Given the description of an element on the screen output the (x, y) to click on. 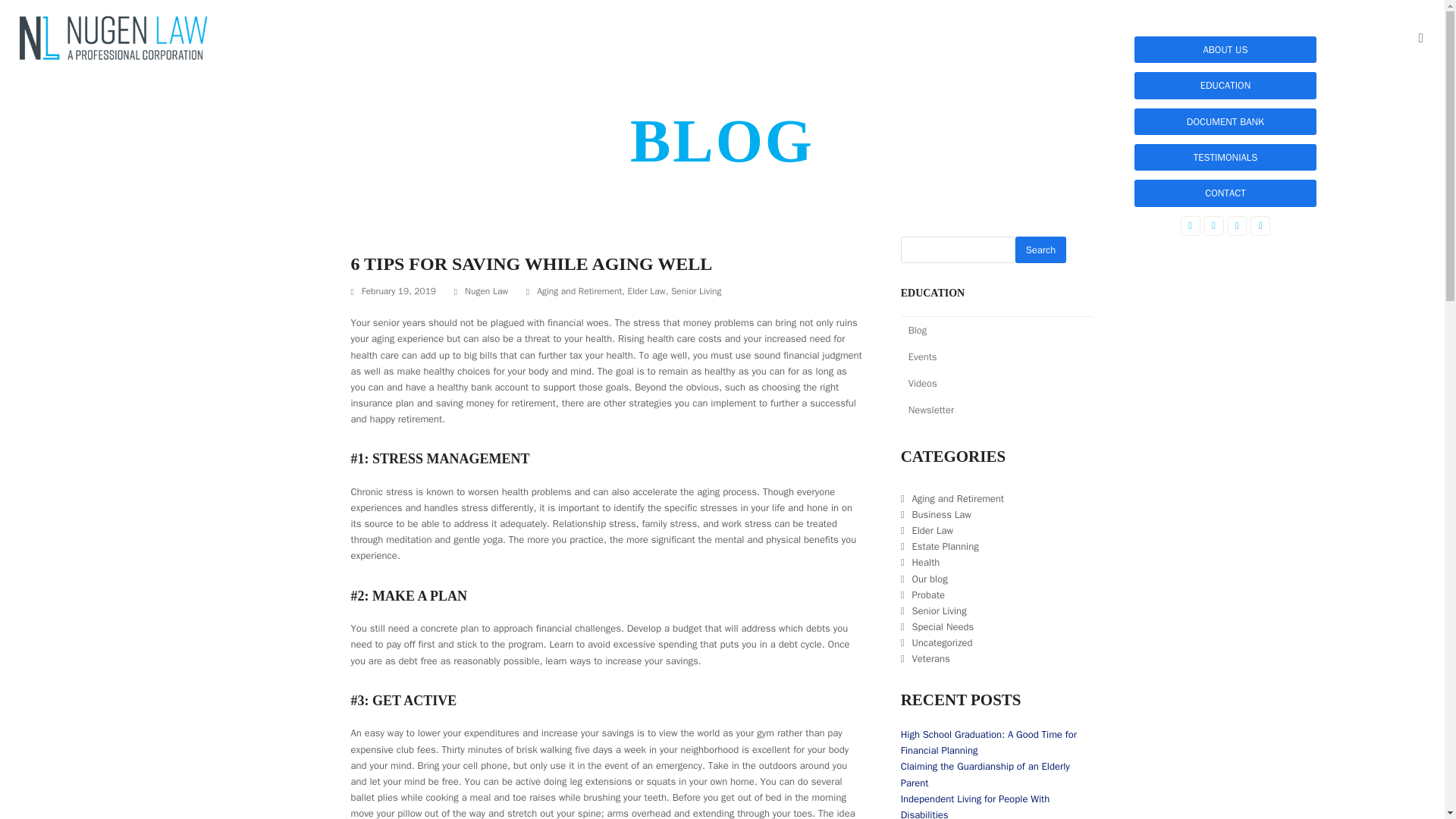
Aging and Retirement (579, 291)
Twitter (1214, 225)
LinkedIn (1236, 225)
Nugen Law (486, 291)
TESTIMONIALS (1225, 157)
Facebook (1189, 225)
YouTube (1259, 225)
Twitter (1214, 225)
Elder Law (646, 291)
Senior Living (696, 291)
DOCUMENT BANK (1225, 121)
EDUCATION (1225, 85)
YouTube (1259, 225)
ABOUT US (1225, 49)
